Given the description of an element on the screen output the (x, y) to click on. 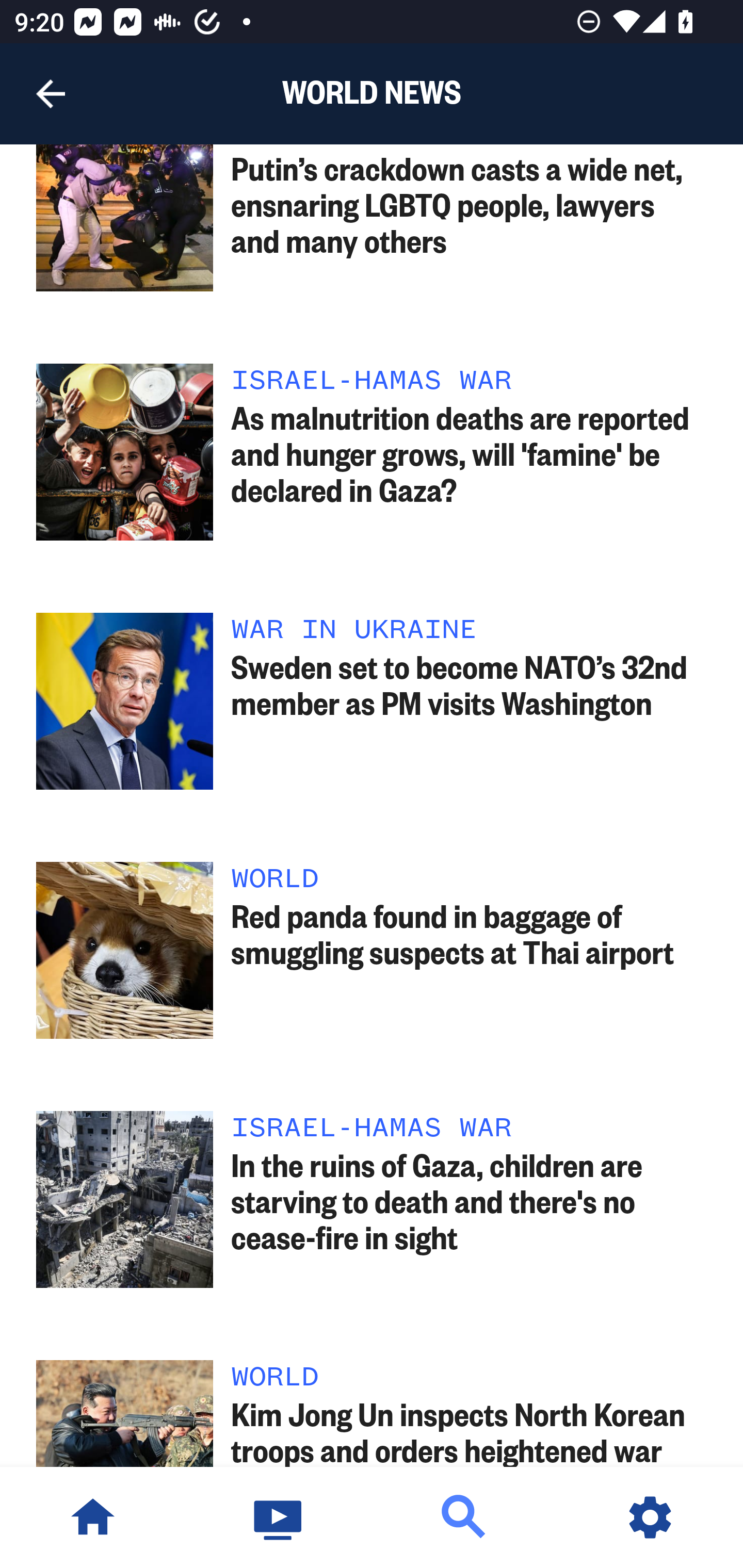
Navigate up (50, 93)
NBC News Home (92, 1517)
Watch (278, 1517)
Settings (650, 1517)
